Given the description of an element on the screen output the (x, y) to click on. 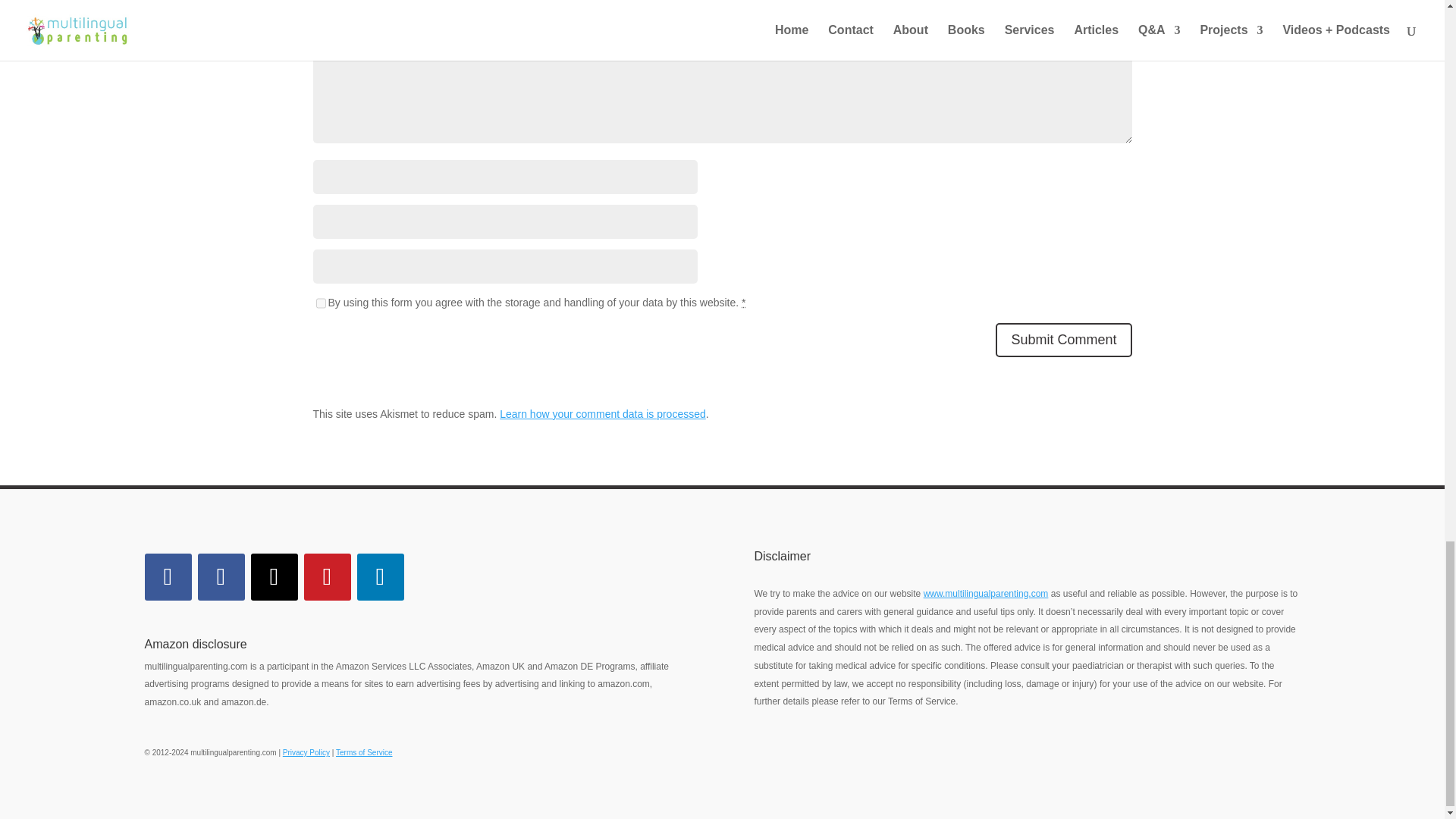
Follow on Facebook (220, 576)
Follow on Facebook (167, 576)
Follow on Pinterest (326, 576)
Follow on X (273, 576)
